Given the description of an element on the screen output the (x, y) to click on. 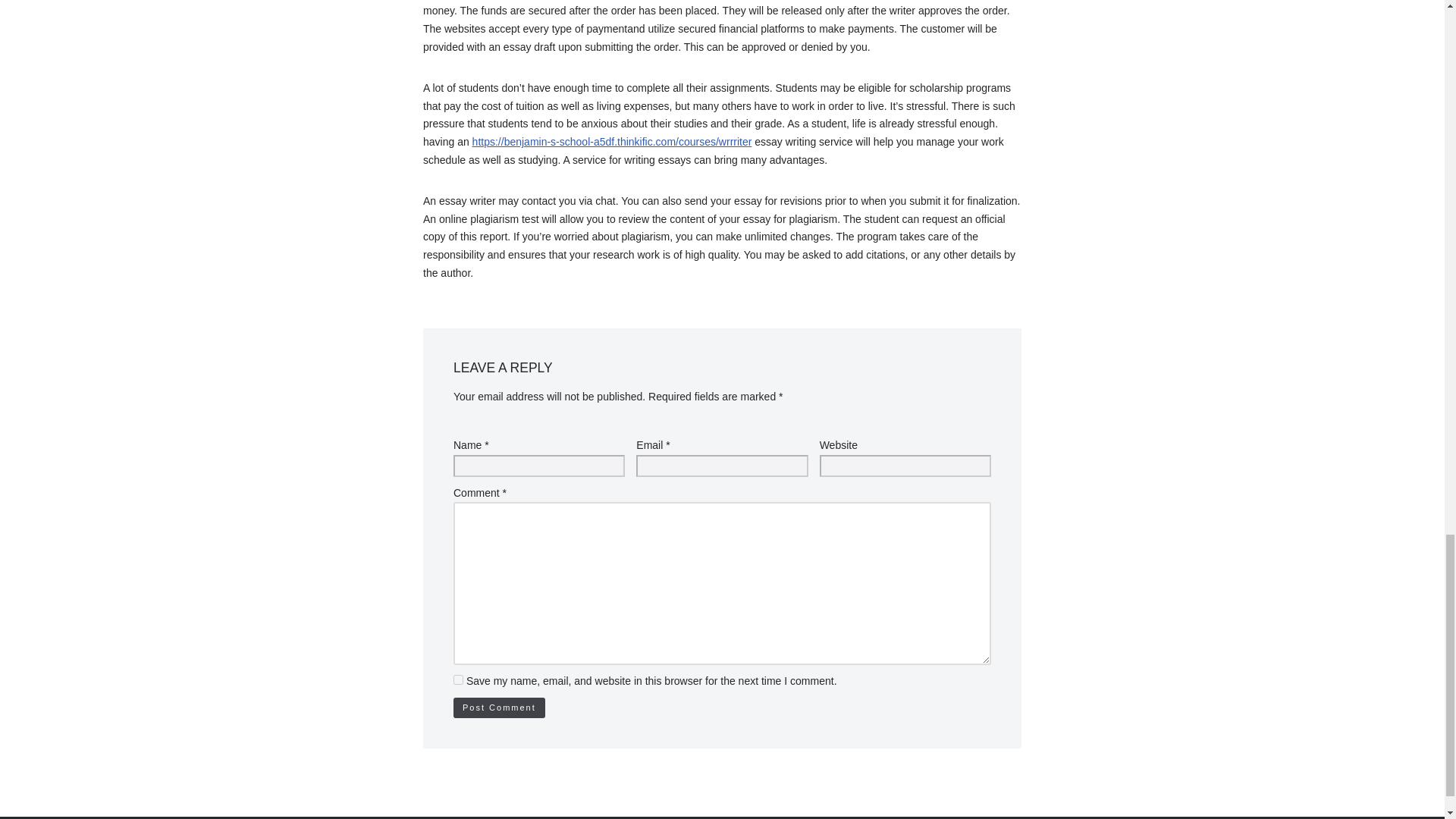
yes (457, 679)
Post Comment (498, 707)
Post Comment (498, 707)
